Given the description of an element on the screen output the (x, y) to click on. 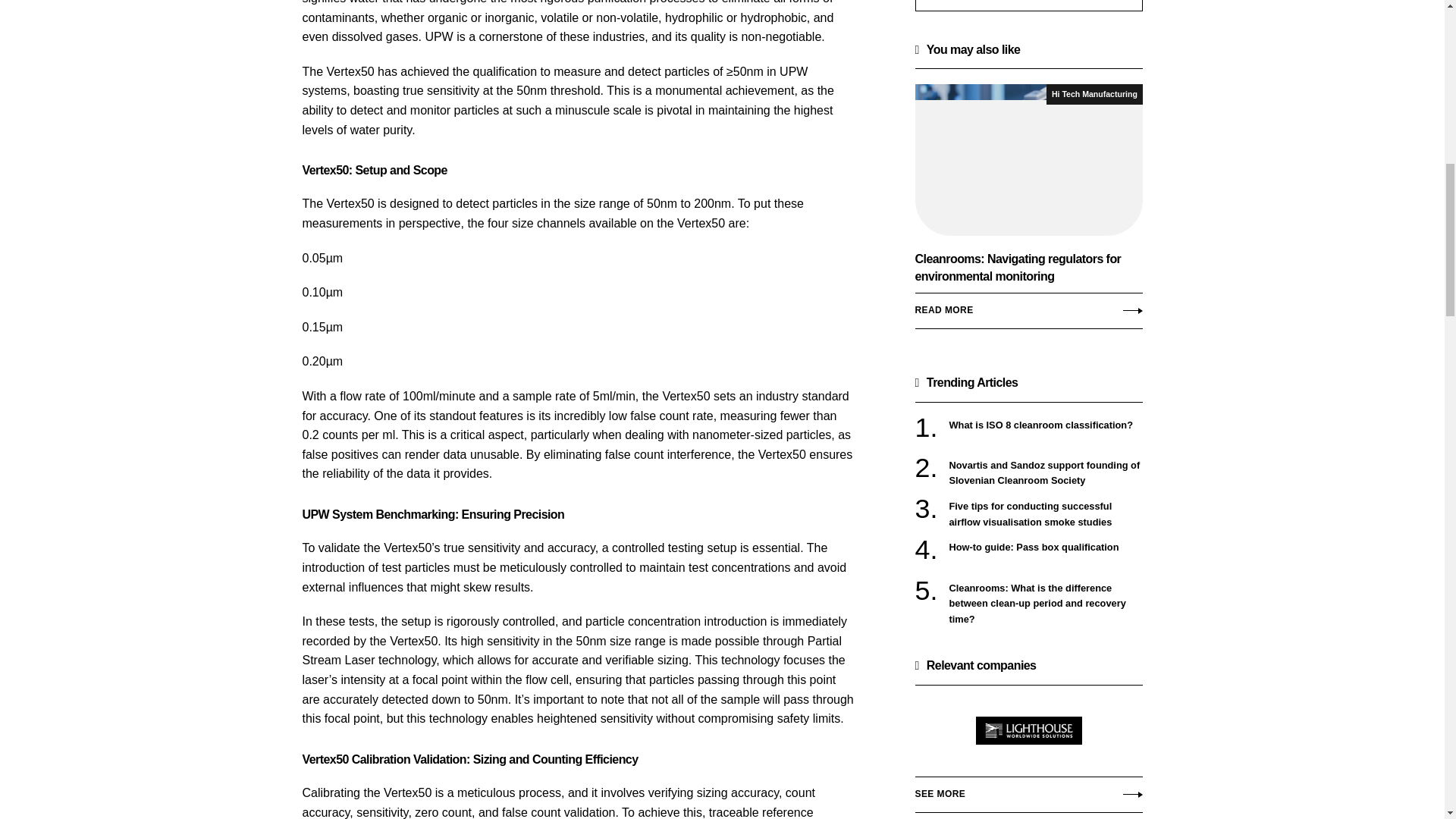
Hi Tech Manufacturing (1093, 94)
What is ISO 8 cleanroom classification? (1045, 425)
